Given the description of an element on the screen output the (x, y) to click on. 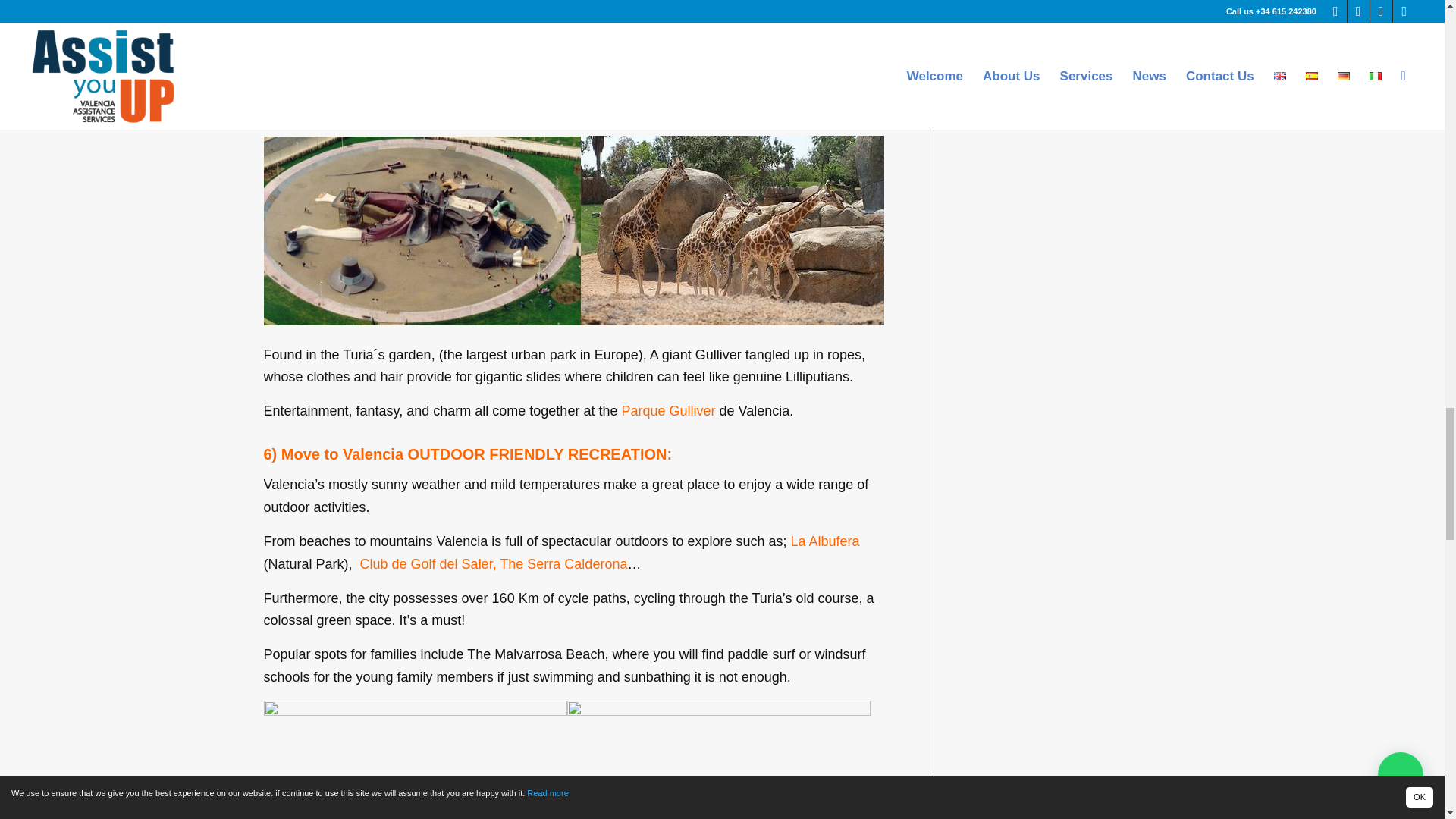
Oceanografic (304, 111)
Parque Gulliver (667, 410)
The Serra Calderona (563, 563)
La Albufera (825, 540)
Club de Golf del Saler, (427, 563)
Bioparc (509, 111)
